Given the description of an element on the screen output the (x, y) to click on. 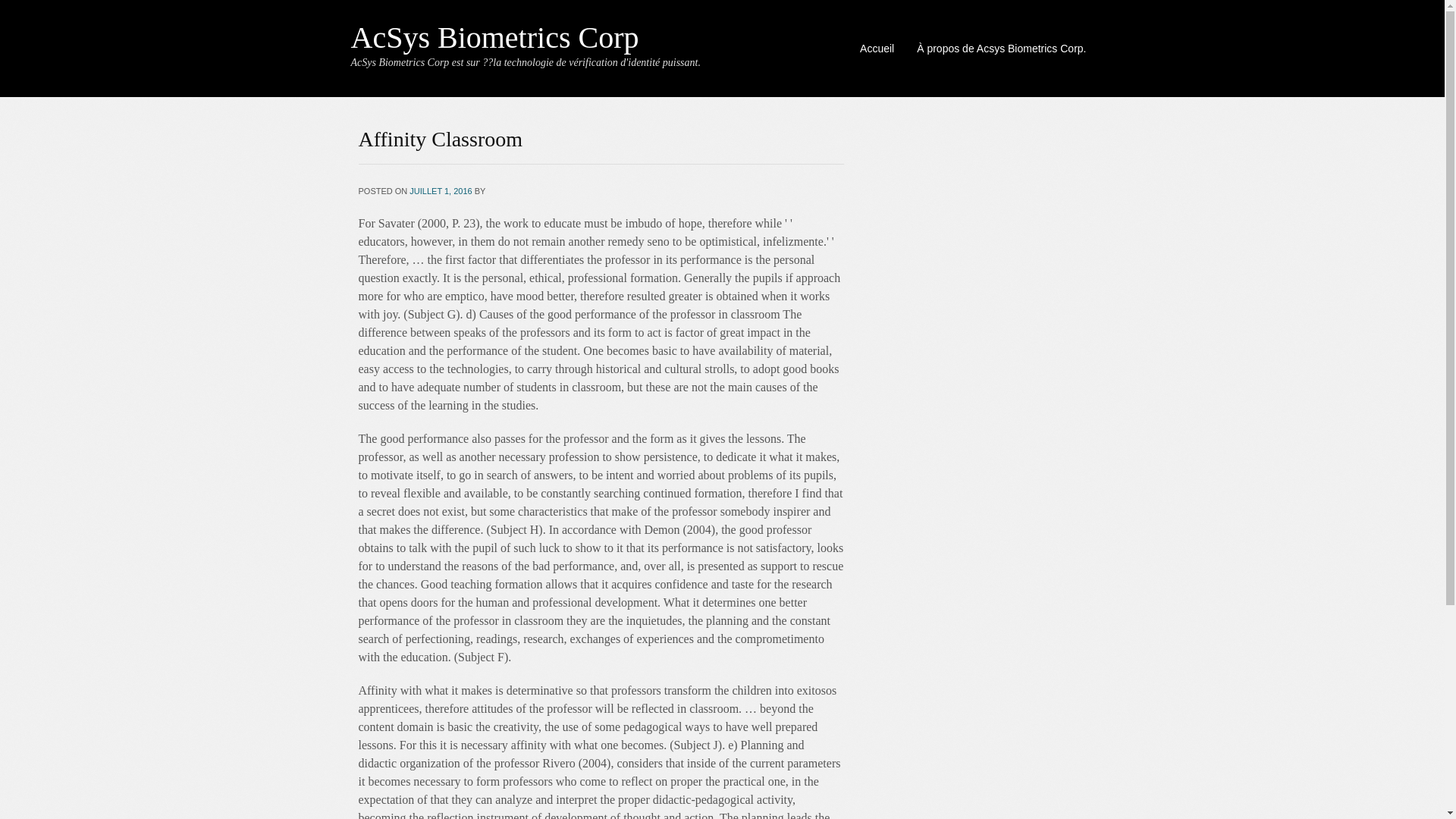
JUILLET 1, 2016 (440, 190)
Accueil (876, 47)
AcSys Biometrics Corp (494, 37)
AcSys Biometrics Corp (494, 37)
